Given the description of an element on the screen output the (x, y) to click on. 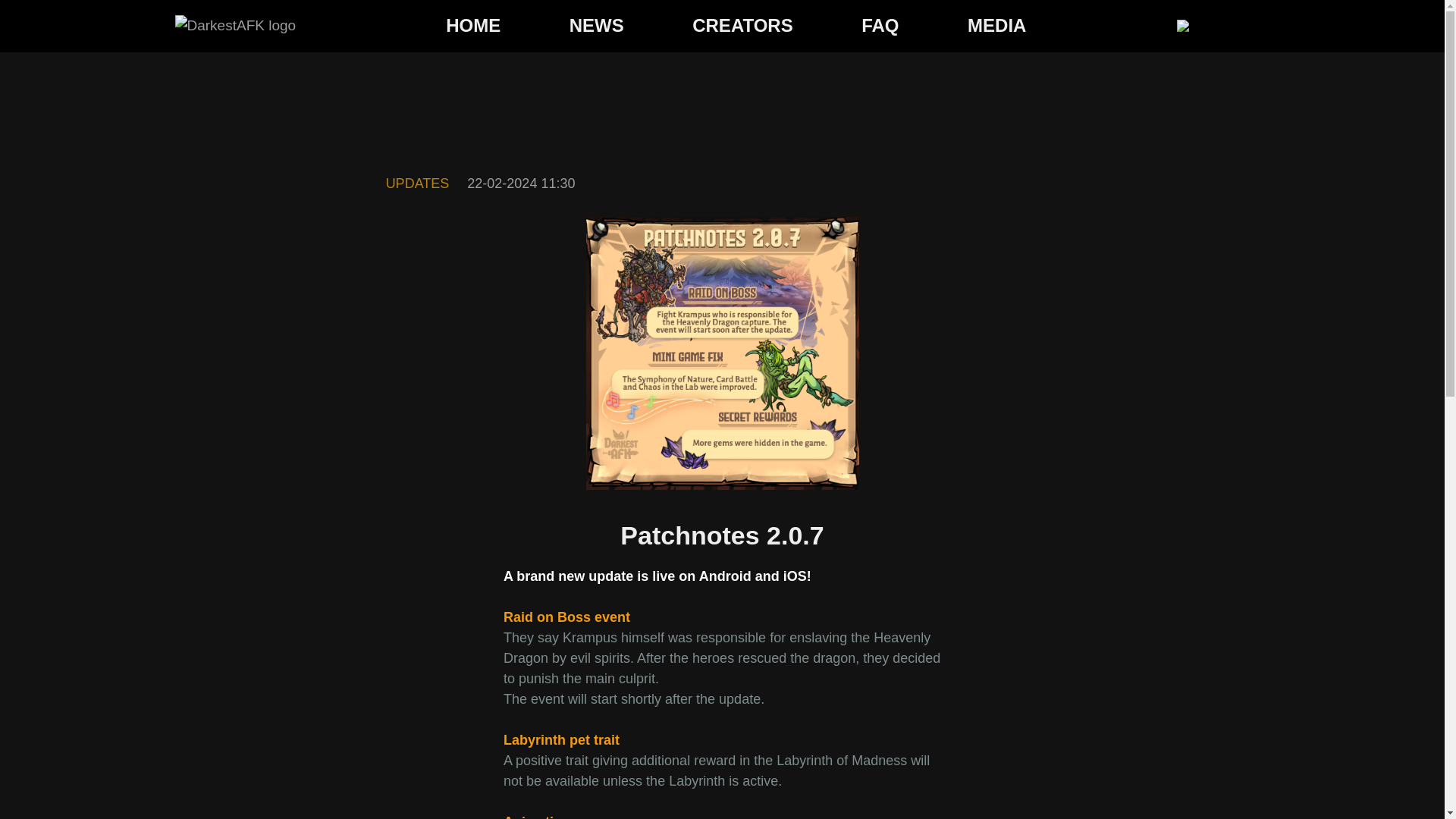
NEWS (596, 25)
CREATORS (742, 25)
HOME (472, 25)
MEDIA (997, 25)
UPDATES (417, 183)
FAQ (879, 25)
